Given the description of an element on the screen output the (x, y) to click on. 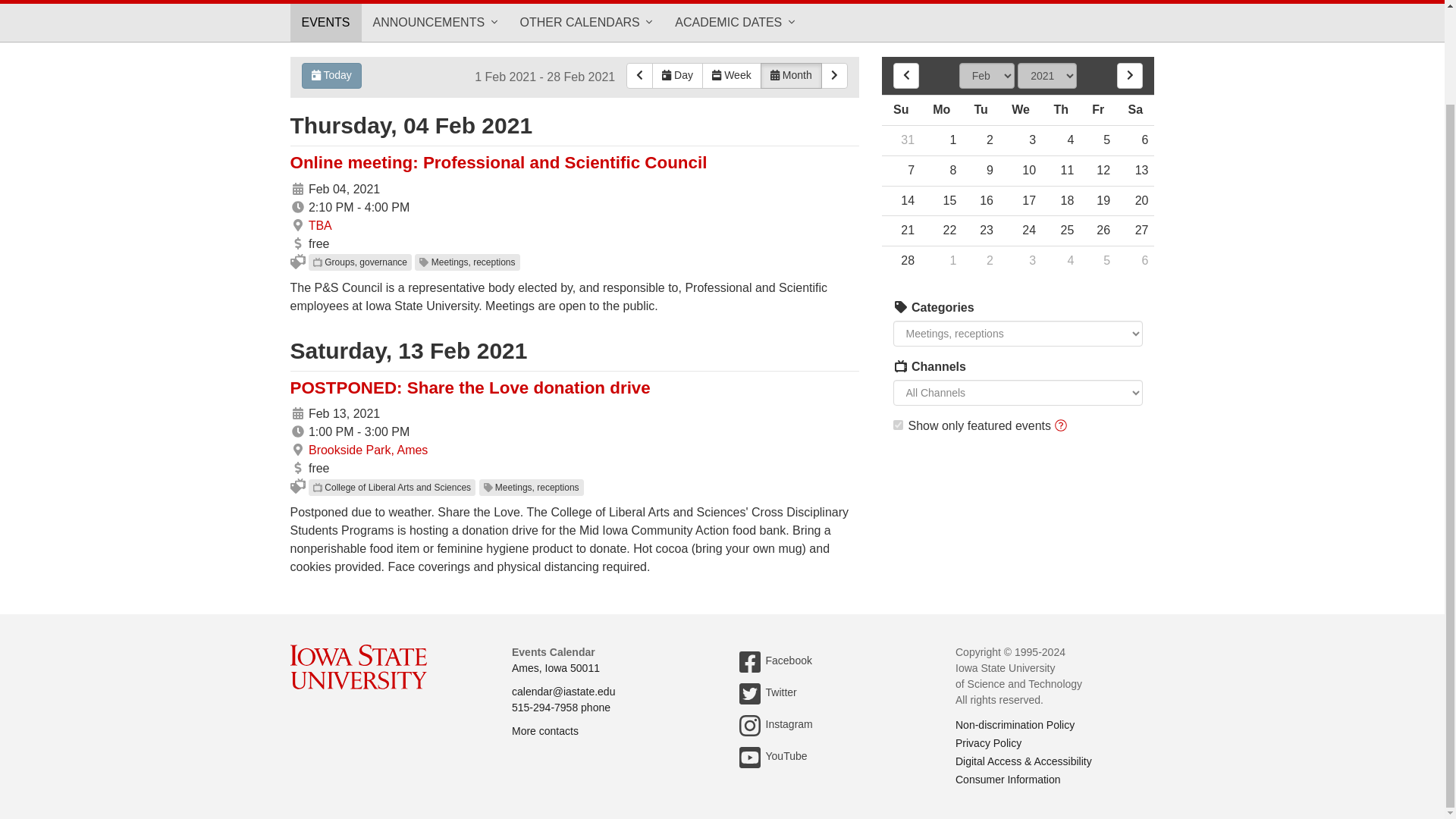
Location (296, 224)
Date (296, 188)
Channel (317, 487)
Cost (296, 243)
Location (296, 224)
Time (296, 206)
Categories (900, 306)
Categories (900, 306)
Time (296, 431)
Date (296, 413)
